Given the description of an element on the screen output the (x, y) to click on. 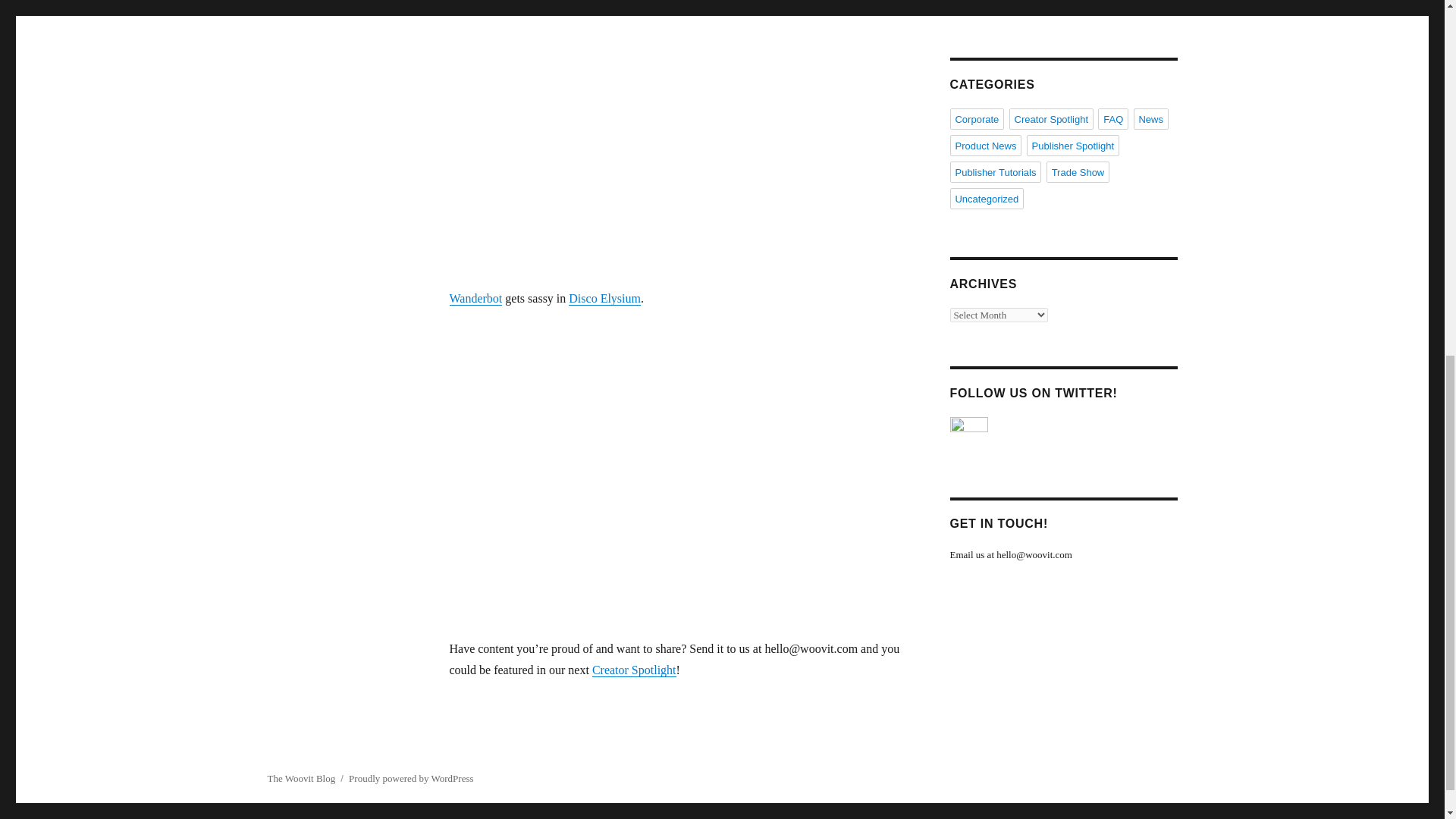
Uncategorized (986, 198)
News (1149, 118)
The Woovit Blog (300, 778)
FAQ (1112, 118)
Product News (985, 145)
Corporate (976, 118)
Proudly powered by WordPress (411, 778)
Publisher Tutorials (995, 171)
Creator Spotlight (1051, 118)
Creator Spotlight (634, 669)
